Given the description of an element on the screen output the (x, y) to click on. 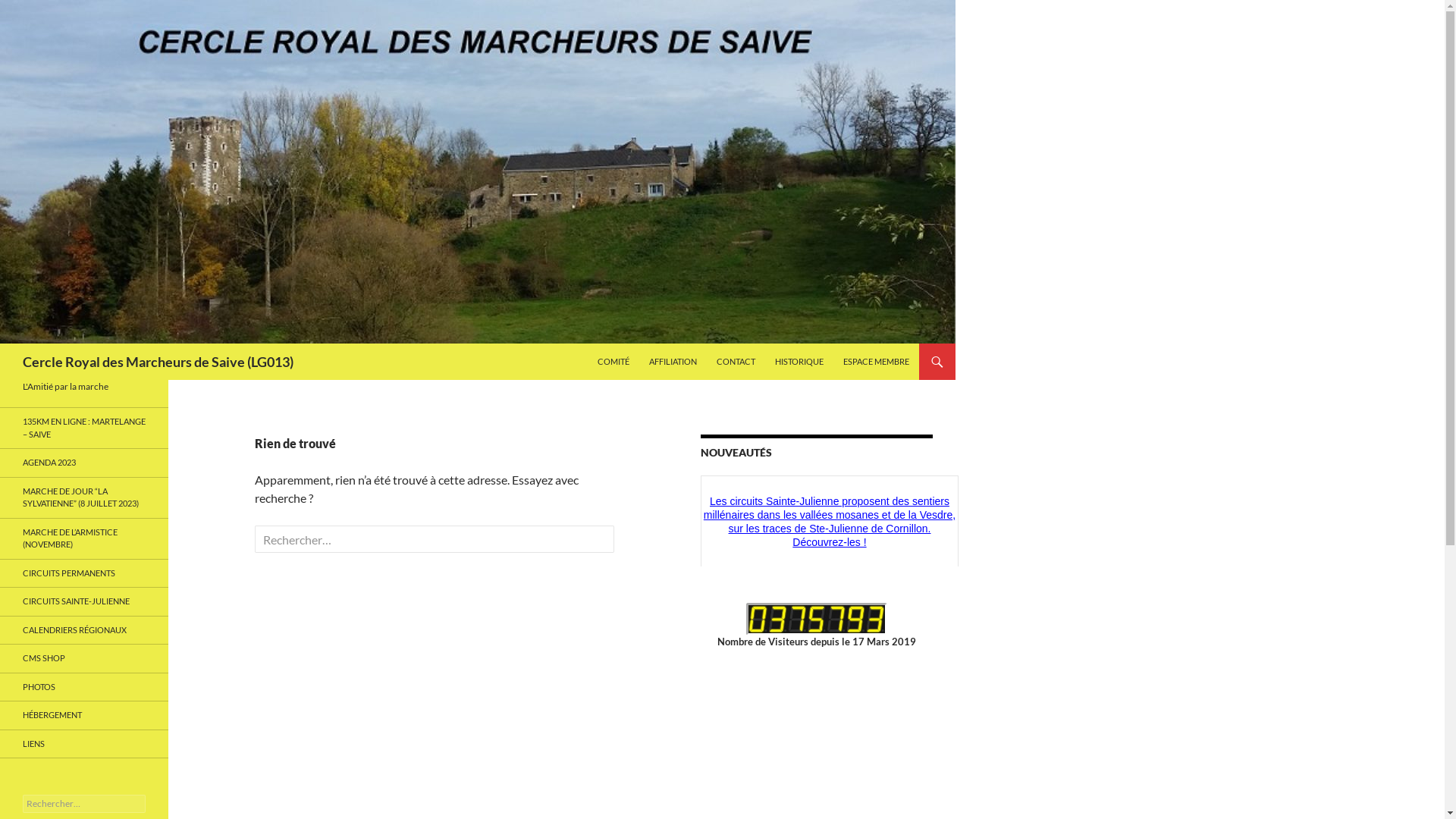
ALLER AU CONTENU Element type: text (596, 342)
CMS SHOP Element type: text (84, 658)
Recherche Element type: text (3, 342)
AFFILIATION Element type: text (673, 361)
CONTACT Element type: text (735, 361)
LIENS Element type: text (84, 743)
HISTORIQUE Element type: text (798, 361)
ESPACE MEMBRE Element type: text (876, 361)
Rechercher Element type: text (41, 9)
Rechercher Element type: text (52, 13)
PHOTOS Element type: text (84, 687)
AGENDA 2023 Element type: text (84, 462)
Cercle Royal des Marcheurs de Saive (LG013) Element type: text (157, 361)
CIRCUITS SAINTE-JULIENNE Element type: text (84, 601)
CIRCUITS PERMANENTS Element type: text (84, 573)
